Given the description of an element on the screen output the (x, y) to click on. 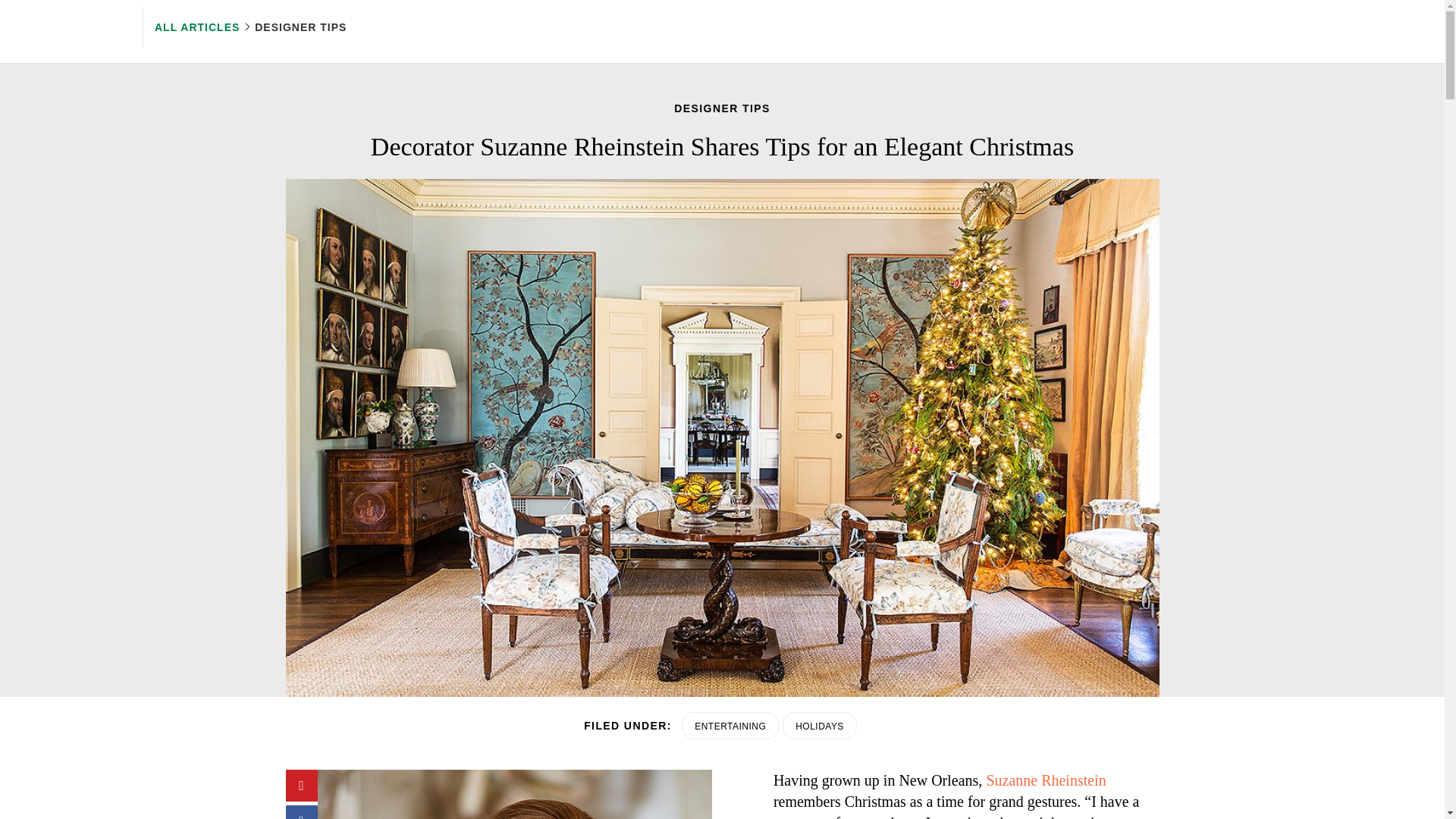
Suzanne Rheinstein (1045, 780)
ALL ARTICLES (198, 27)
ENTERTAINING (729, 725)
One Kings Lane (71, 27)
HOLIDAYS (820, 725)
